Given the description of an element on the screen output the (x, y) to click on. 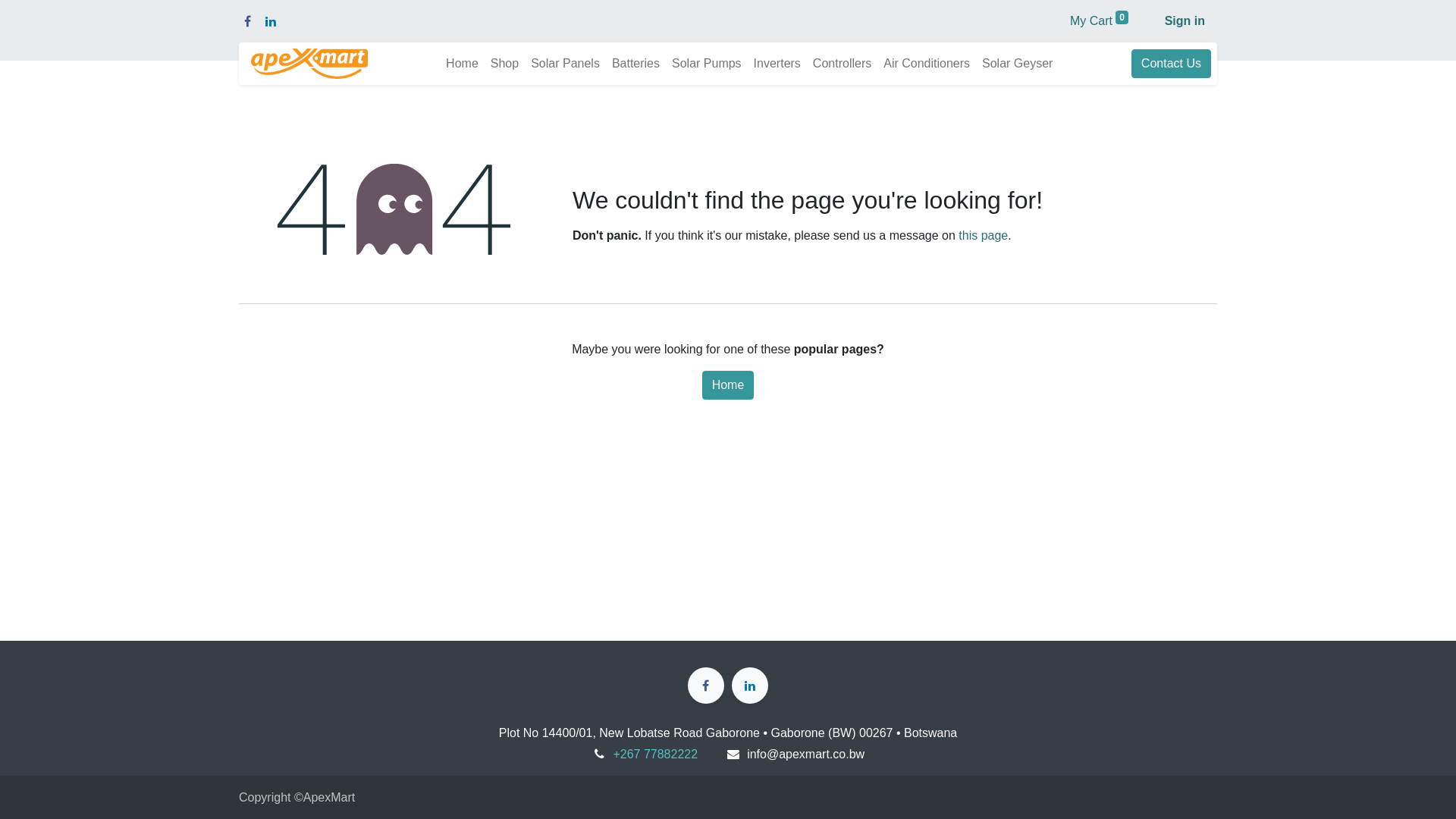
Solar Pumps Element type: text (706, 63)
Shop Element type: text (504, 63)
Sign in Element type: text (1184, 21)
Batteries Element type: text (635, 63)
Home Element type: text (461, 63)
My Cart 0 Element type: text (1098, 21)
Contact Us Element type: text (1171, 63)
Inverters Element type: text (776, 63)
Air Conditioners Element type: text (926, 63)
Controllers Element type: text (841, 63)
Home Element type: text (728, 384)
267 77882222 Element type: text (658, 753)
Apex Mart Element type: hover (309, 63)
+ Element type: text (615, 753)
this page Element type: text (982, 235)
Solar Panels Element type: text (564, 63)
Solar Geyser Element type: text (1016, 63)
